Given the description of an element on the screen output the (x, y) to click on. 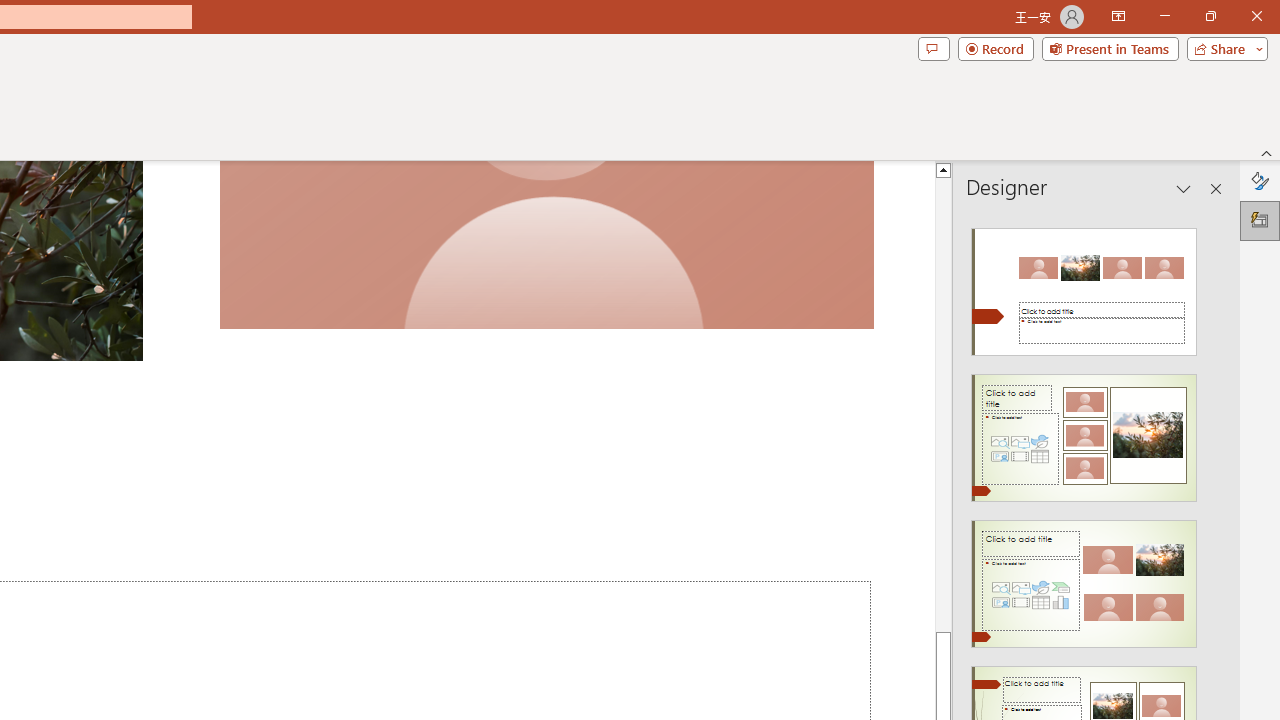
Recommended Design: Design Idea (1083, 286)
